Given the description of an element on the screen output the (x, y) to click on. 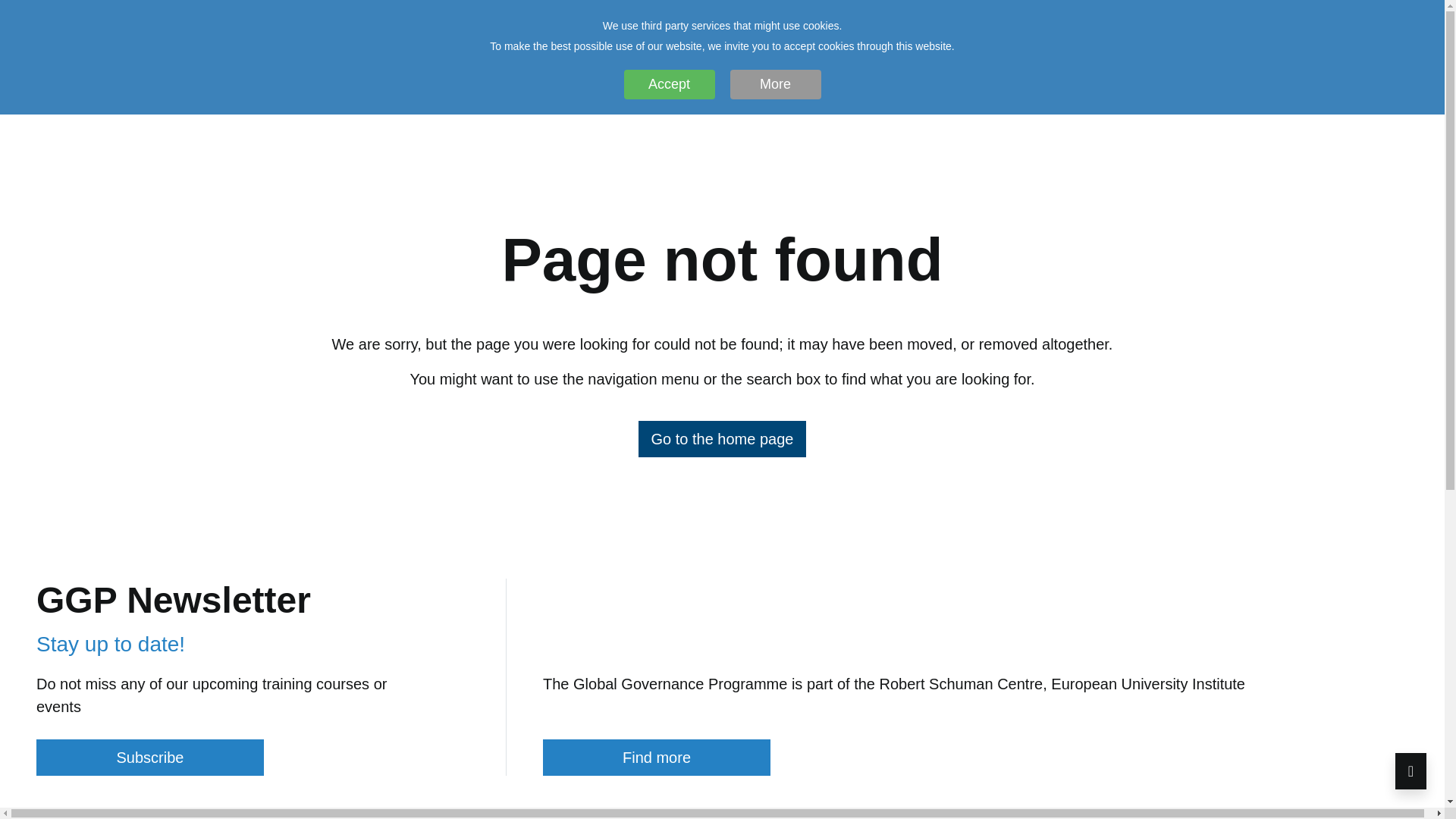
More (775, 84)
Subscribe (149, 757)
Go to Global Governance Programme home page (722, 438)
Find more (656, 757)
open or close the menu (1372, 141)
Go to the home page (722, 438)
Accept (668, 84)
Go to home page (90, 144)
